Given the description of an element on the screen output the (x, y) to click on. 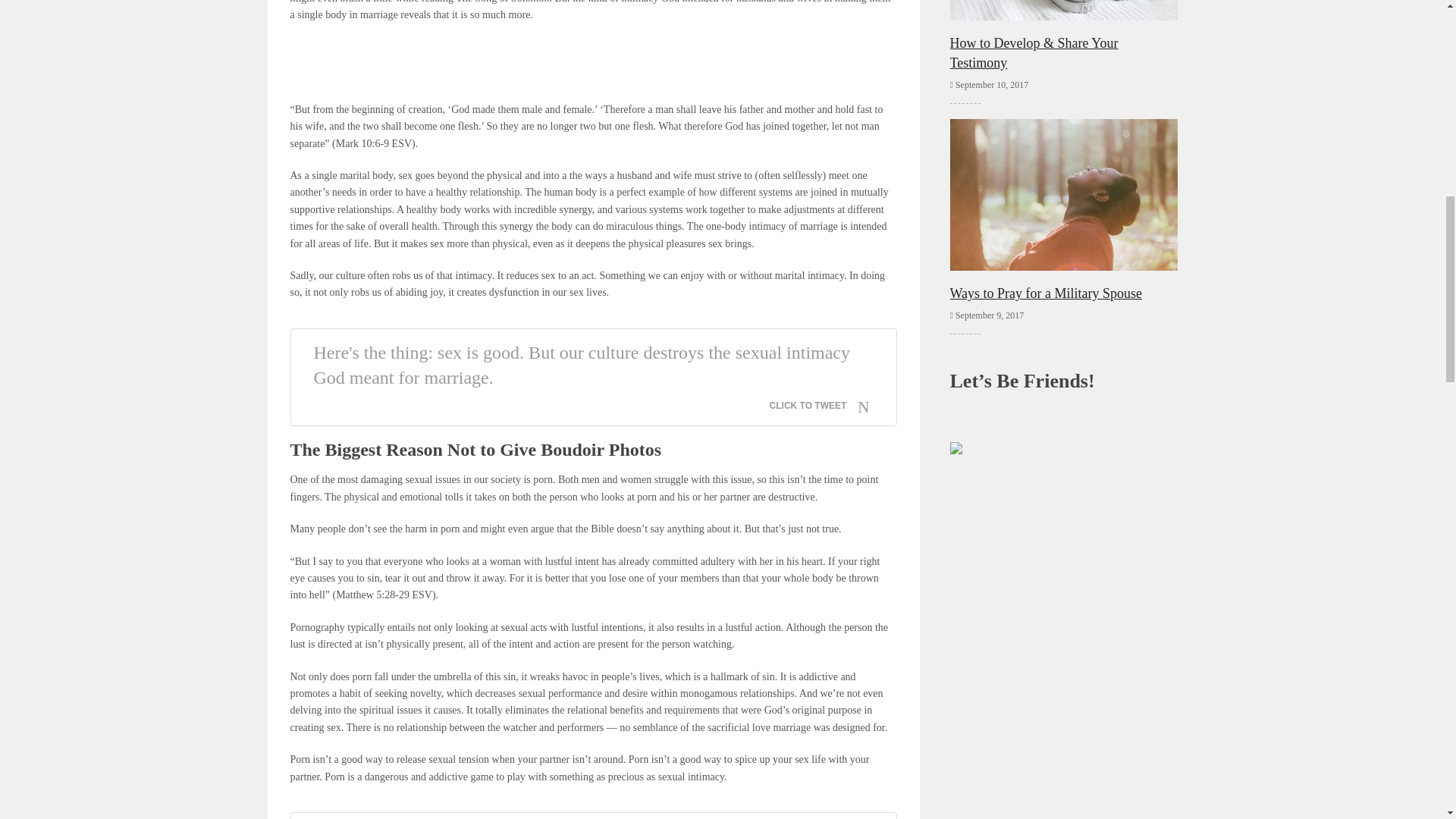
Ways to Pray for a Military Spouse (1062, 209)
Ways to Pray for a Military Spouse (1062, 209)
